Given the description of an element on the screen output the (x, y) to click on. 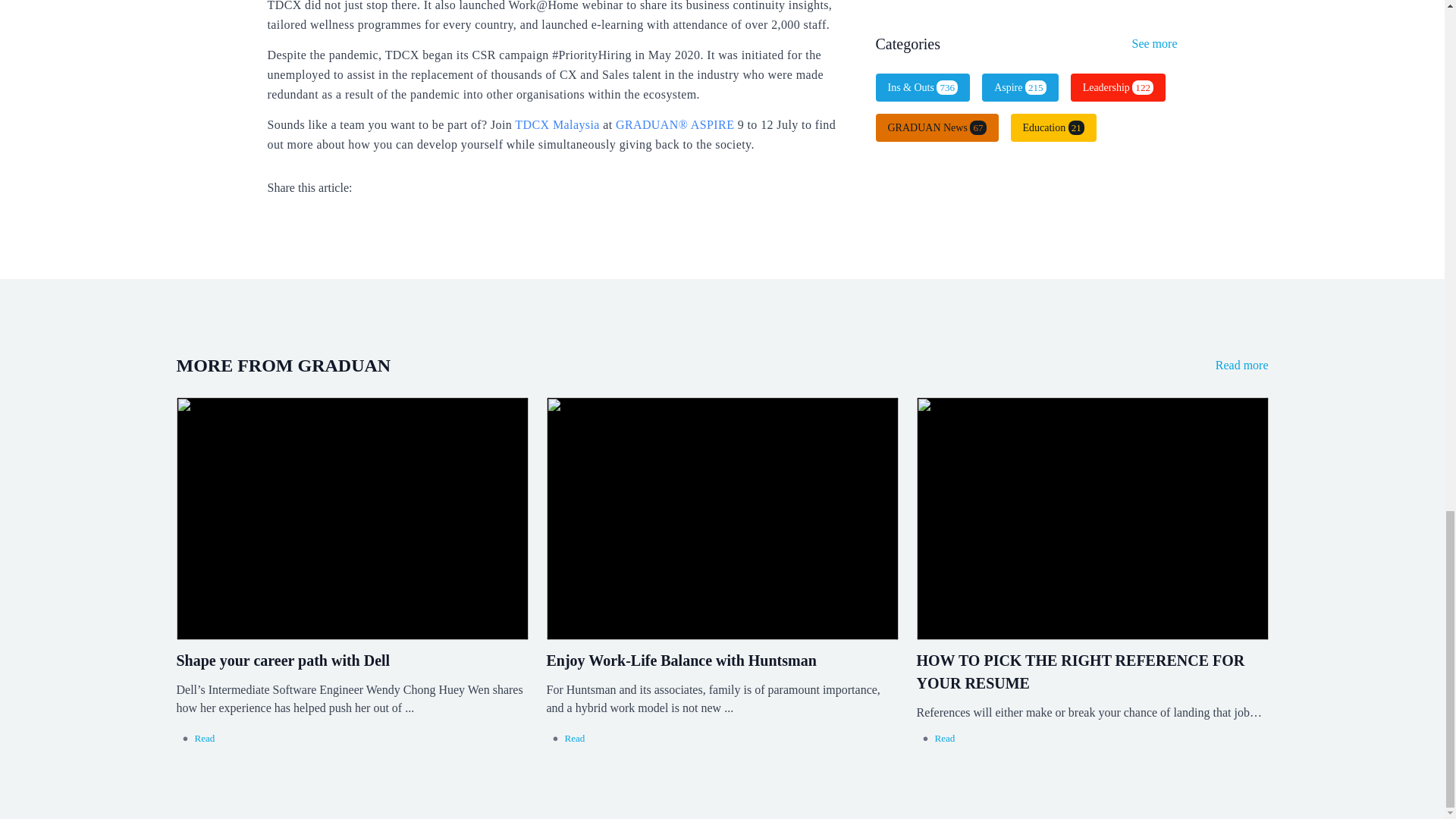
Aspire 215 (1019, 87)
Leadership 122 (1118, 87)
GRADUAN News 67 (936, 127)
See more (1154, 42)
Education 21 (1053, 127)
TDCX Malaysia (556, 124)
Read more (1241, 364)
